Given the description of an element on the screen output the (x, y) to click on. 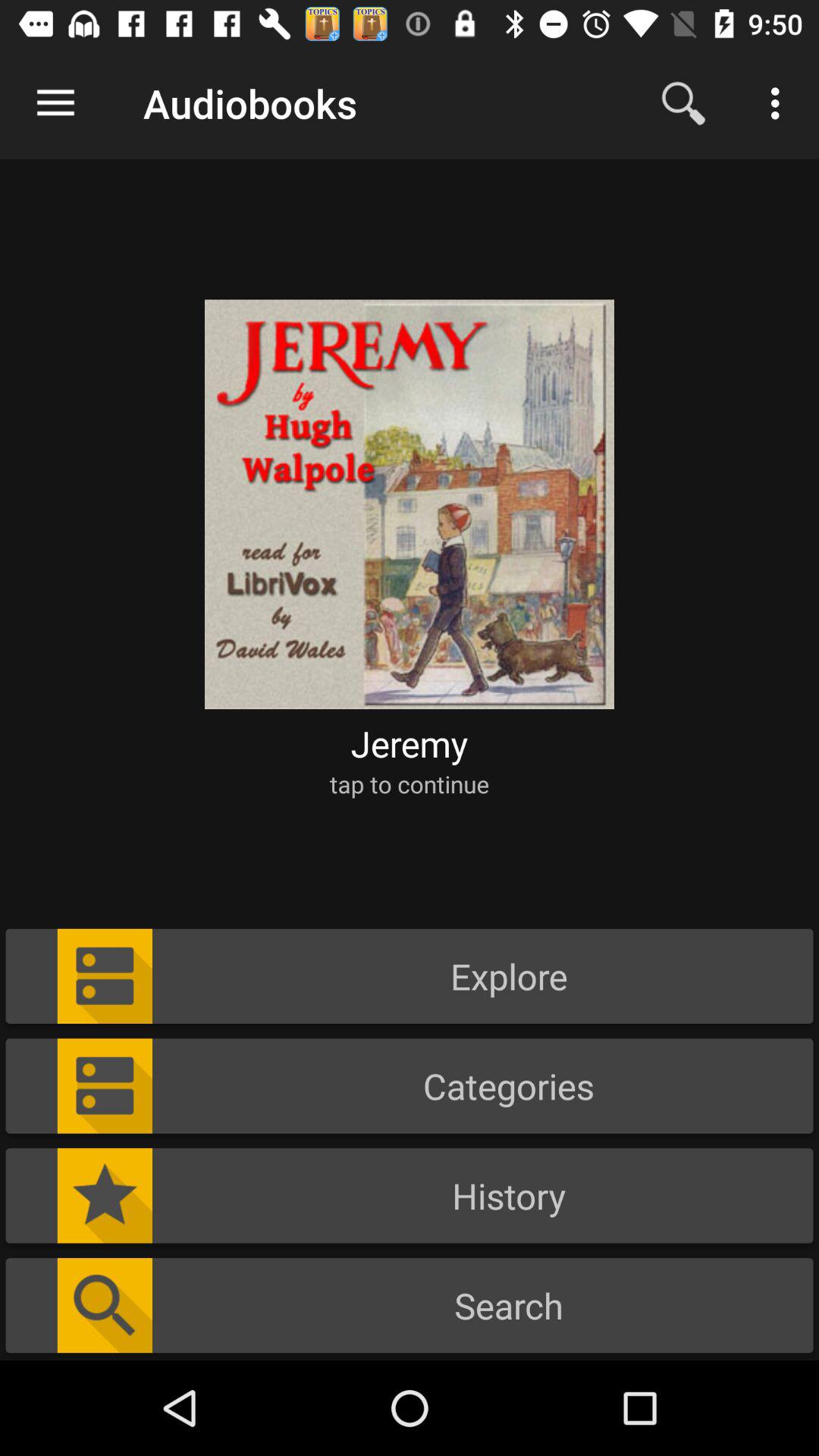
tap the icon above the explore (409, 783)
